Given the description of an element on the screen output the (x, y) to click on. 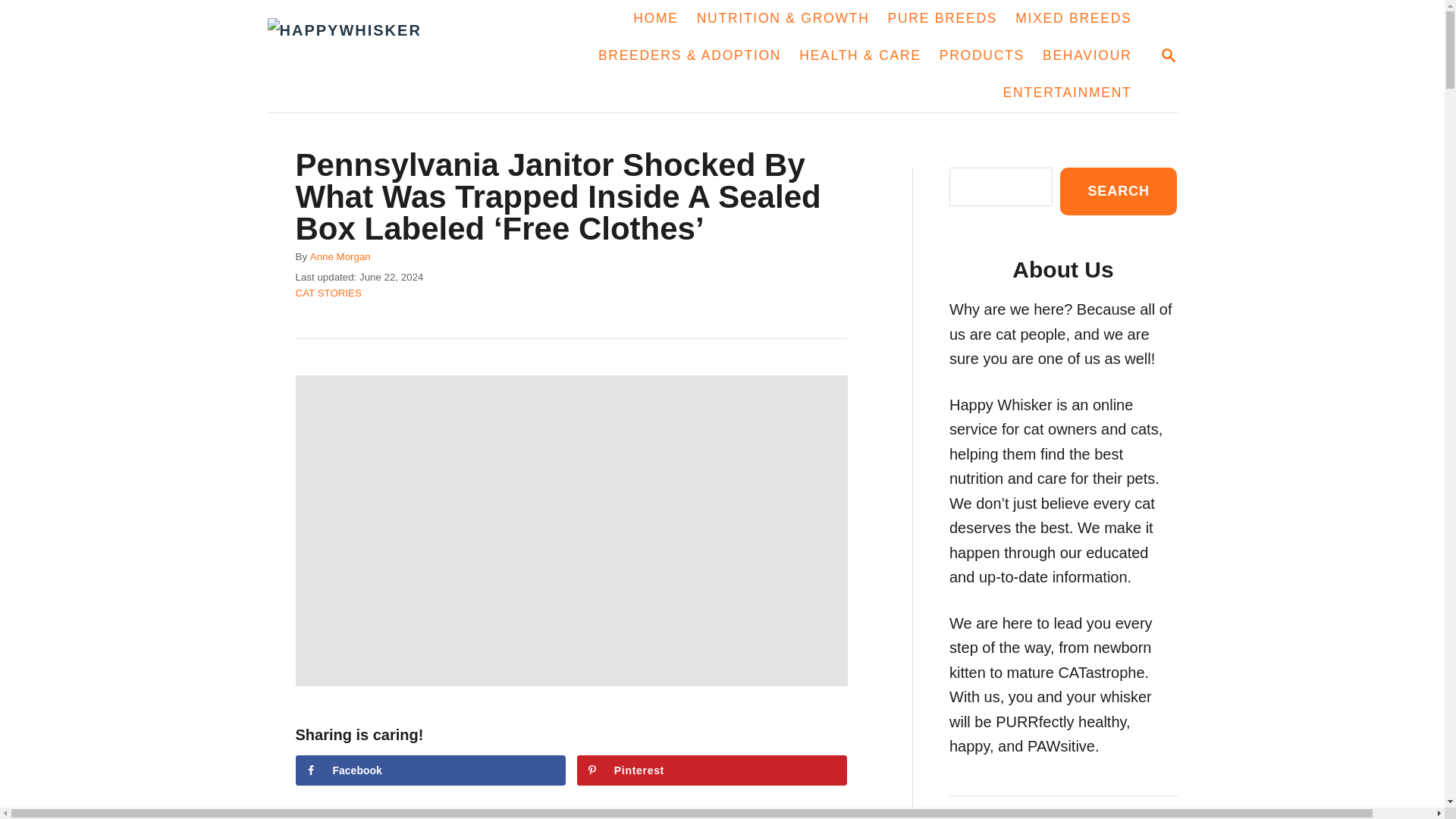
ENTERTAINMENT (1167, 55)
Share on Facebook (1067, 93)
PURE BREEDS (430, 770)
Pinterest (943, 18)
BEHAVIOUR (711, 770)
happywhisker (1087, 55)
MIXED BREEDS (355, 56)
Save to Pinterest (1073, 18)
Facebook (711, 770)
CAT STORIES (430, 770)
MAGNIFYING GLASS (328, 292)
HOME (1167, 54)
SEARCH (655, 18)
PRODUCTS (1117, 191)
